Given the description of an element on the screen output the (x, y) to click on. 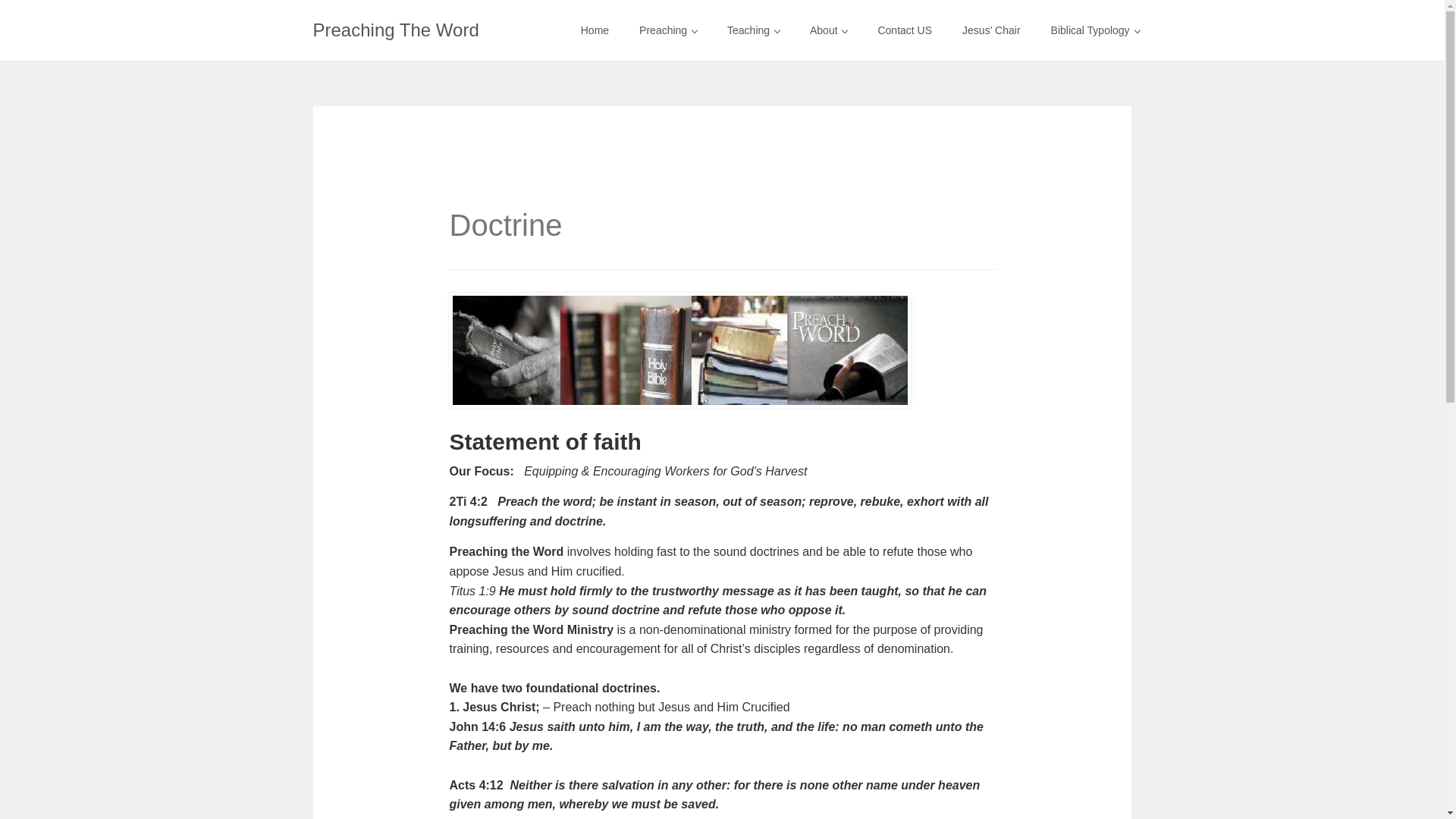
Home (595, 30)
Teaching (752, 30)
About (827, 30)
Preaching (667, 30)
Preaching The Word (395, 30)
Biblical Typology (1094, 30)
Contact US (904, 30)
